Given the description of an element on the screen output the (x, y) to click on. 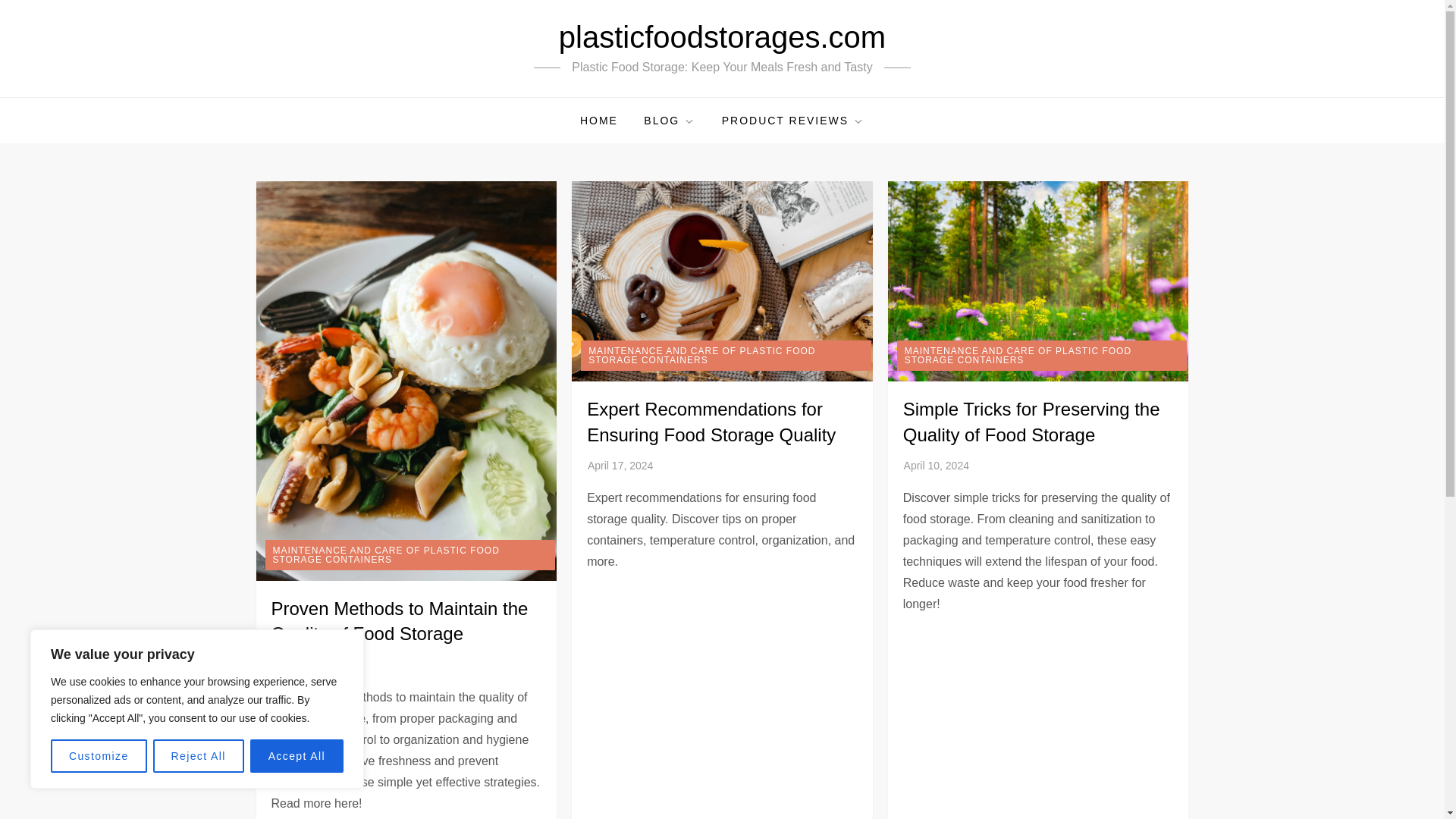
PRODUCT REVIEWS (793, 120)
plasticfoodstorages.com (722, 37)
May 1, 2024 (300, 664)
Accept All (296, 756)
HOME (598, 120)
MAINTENANCE AND CARE OF PLASTIC FOOD STORAGE CONTAINERS (725, 355)
Reject All (198, 756)
Expert Recommendations for Ensuring Food Storage Quality (710, 421)
Customize (98, 756)
April 17, 2024 (620, 465)
